Given the description of an element on the screen output the (x, y) to click on. 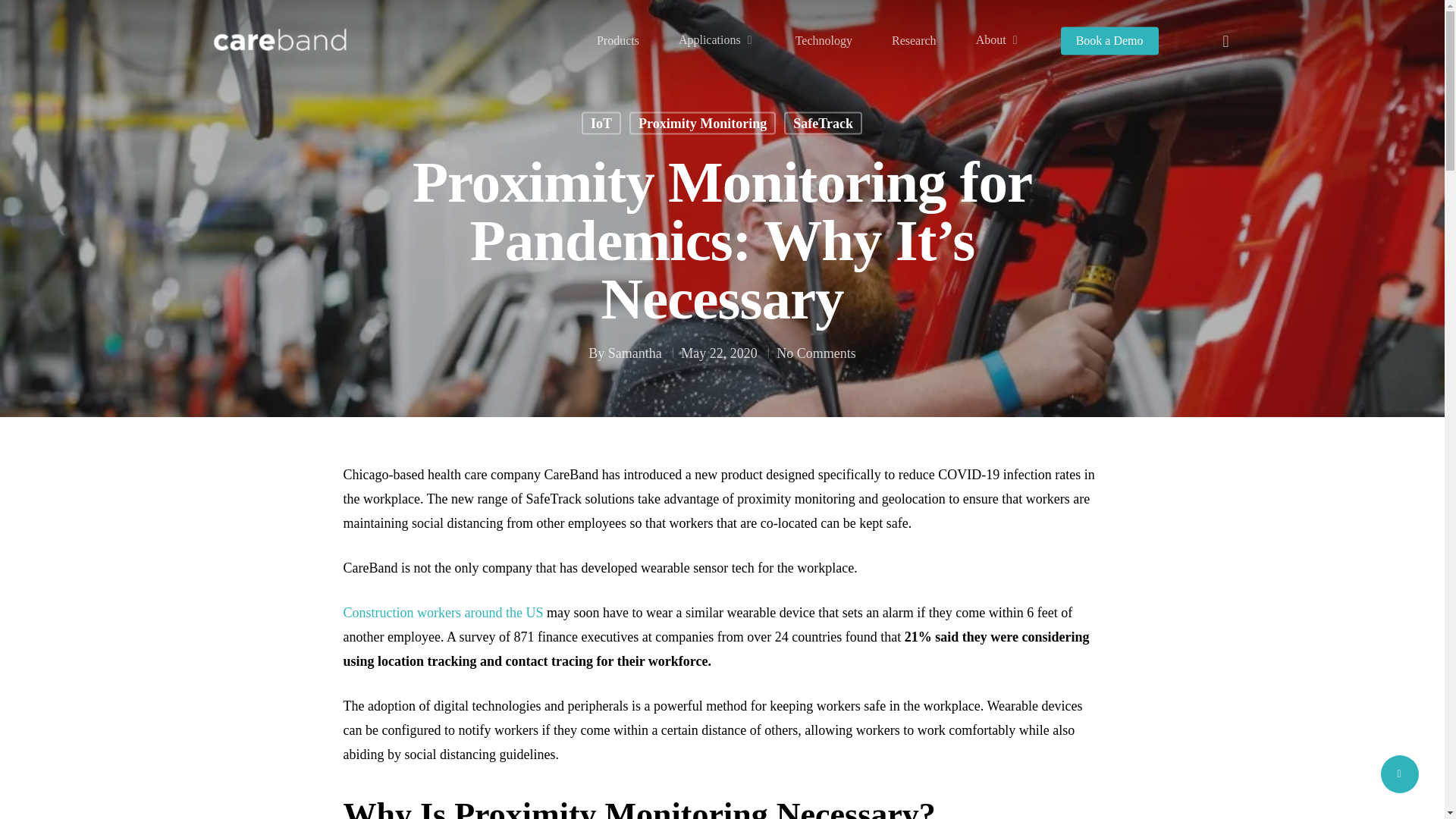
Applications (716, 40)
No Comments (816, 364)
Construction workers around the US (442, 612)
Products (617, 40)
Posts by Samantha (635, 357)
SafeTrack (822, 136)
Samantha (635, 364)
Technology (822, 40)
Book a Demo (1109, 40)
Research (913, 40)
Proximity Monitoring (702, 136)
About (998, 40)
IoT (600, 137)
